Given the description of an element on the screen output the (x, y) to click on. 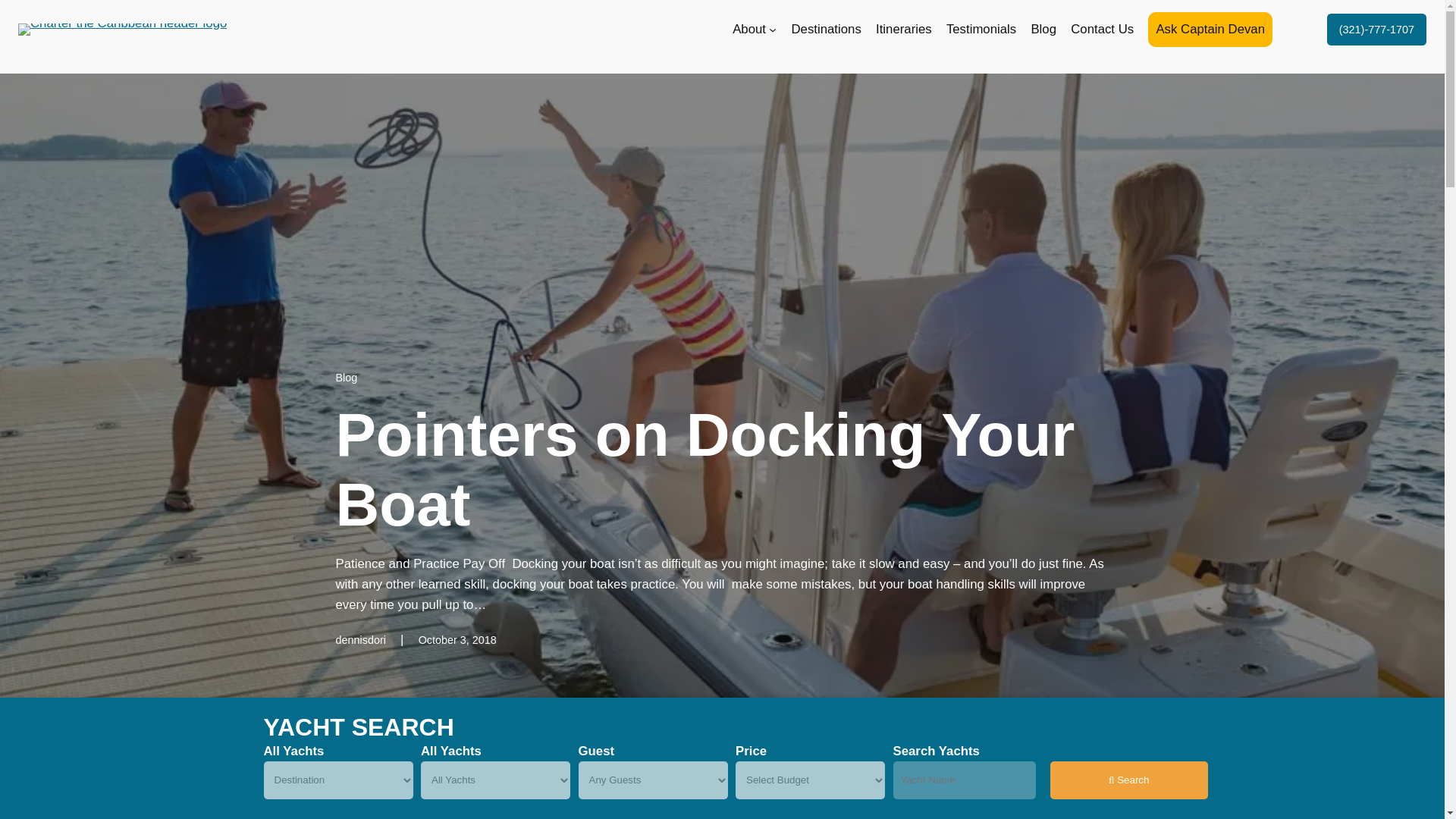
Contact Us (1102, 29)
Itineraries (903, 29)
Blog (345, 377)
Ask Captain Devan (1210, 29)
Blog (1043, 29)
dennisdori (359, 639)
Destinations (825, 29)
About (748, 29)
Testimonials (981, 29)
